Given the description of an element on the screen output the (x, y) to click on. 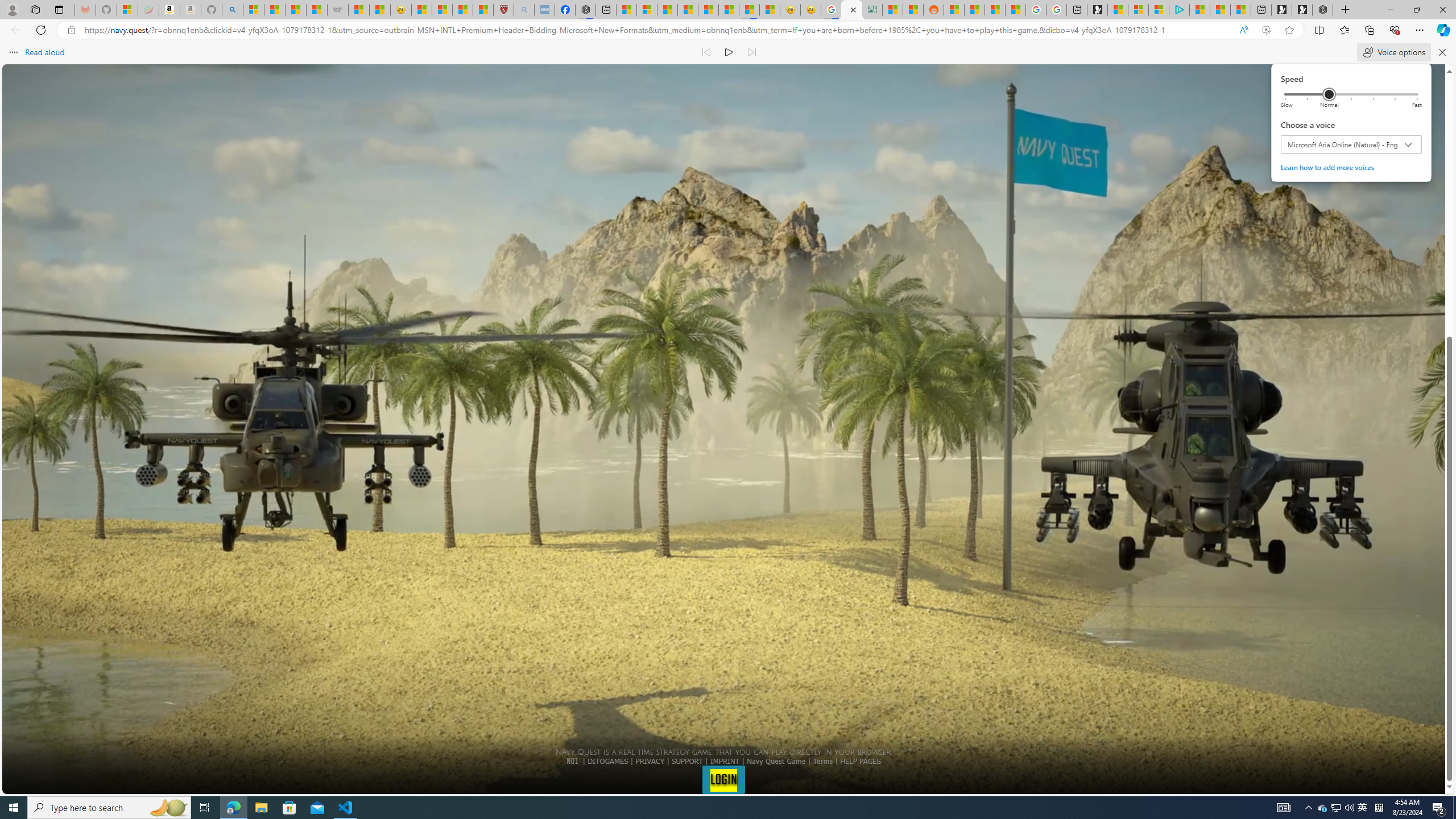
MSNBC - MSN (892, 9)
NCL Adult Asthma Inhaler Choice Guideline - Sleeping (544, 9)
14 Common Myths Debunked By Scientific Facts (708, 9)
HELP PAGES (860, 760)
Type here to search (108, 807)
Running applications (700, 807)
Microsoft Start Gaming (1096, 9)
These 3 Stocks Pay You More Than 5% to Own Them (1240, 9)
Task View (204, 807)
